Given the description of an element on the screen output the (x, y) to click on. 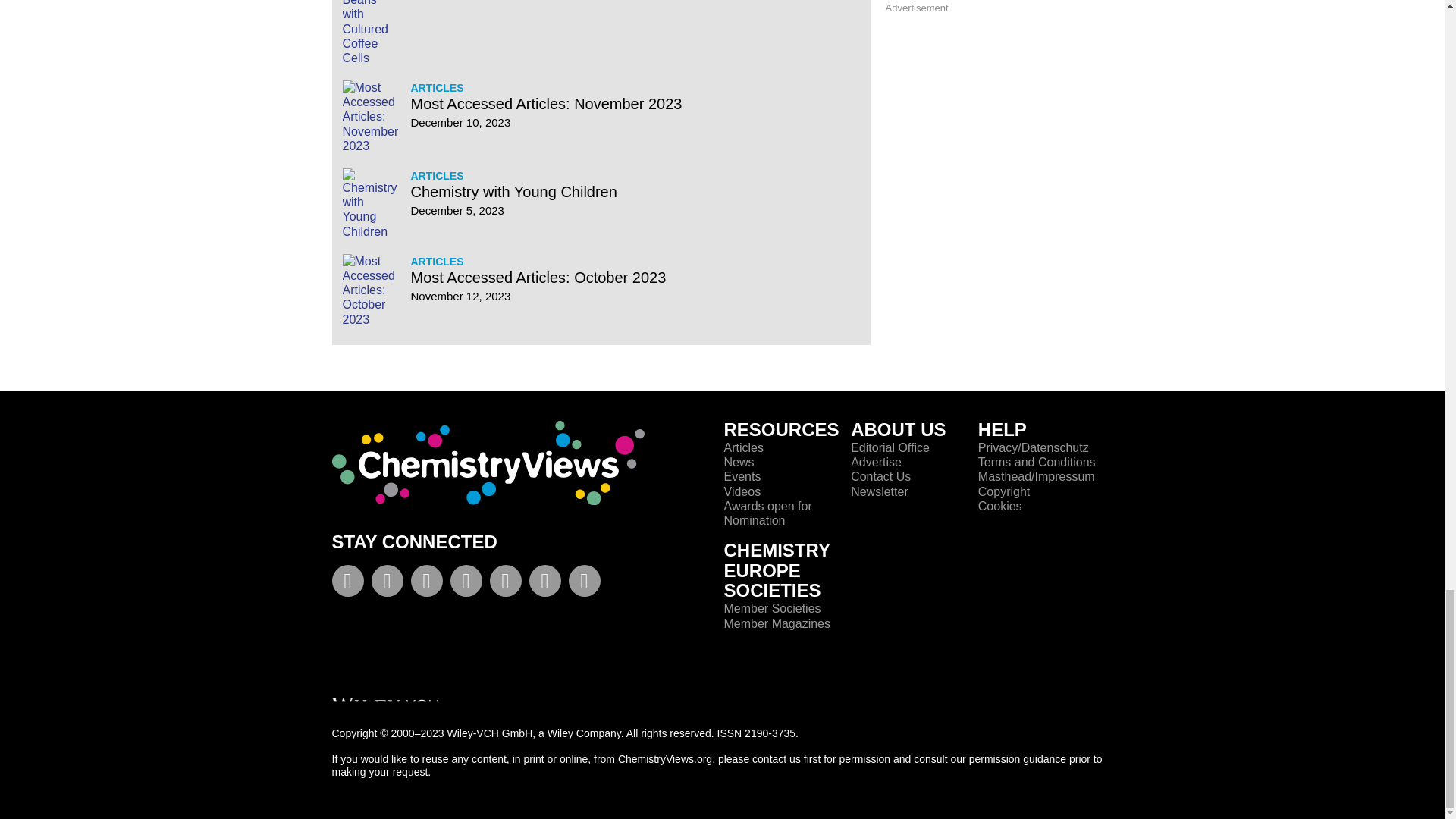
Facebook (347, 584)
YouTube (426, 584)
LinkedIn (465, 584)
Instagram (505, 584)
Mastodon (584, 584)
RSS (544, 584)
Twitter (387, 584)
